Given the description of an element on the screen output the (x, y) to click on. 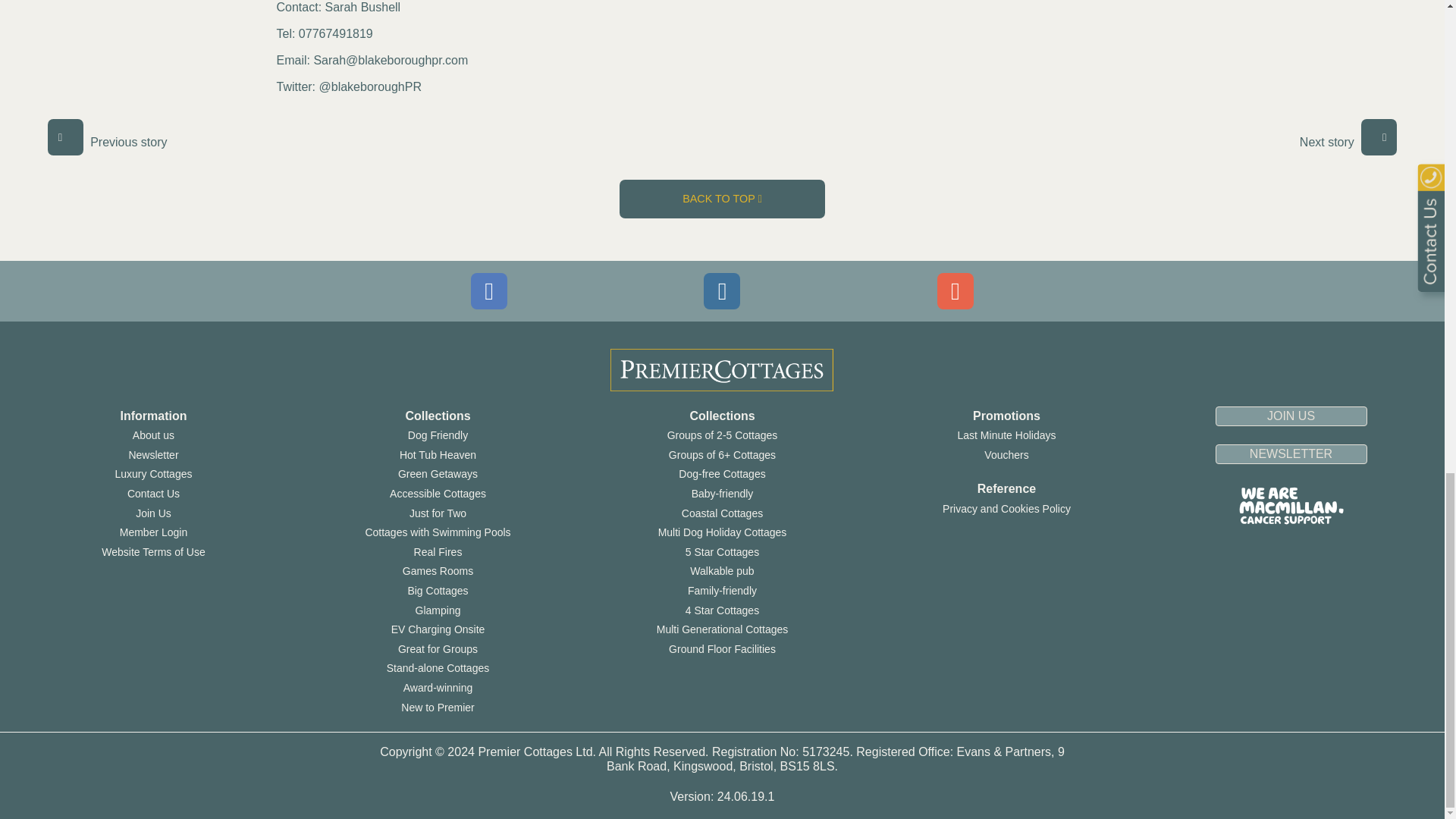
About us (153, 435)
Hot Tub Heaven (437, 454)
BACK TO TOP (722, 198)
Dog Friendly (437, 435)
Member Login (153, 532)
Follow us on Facebook (488, 290)
Newsletter (152, 454)
Luxury Cottages (153, 473)
Join Us (153, 512)
About Premier Cottages (153, 435)
Website Terms of Use (153, 551)
Contact Us (153, 493)
Follow us on YouTube (955, 290)
Follow us on Instagram (721, 290)
Green Getaways (437, 473)
